Given the description of an element on the screen output the (x, y) to click on. 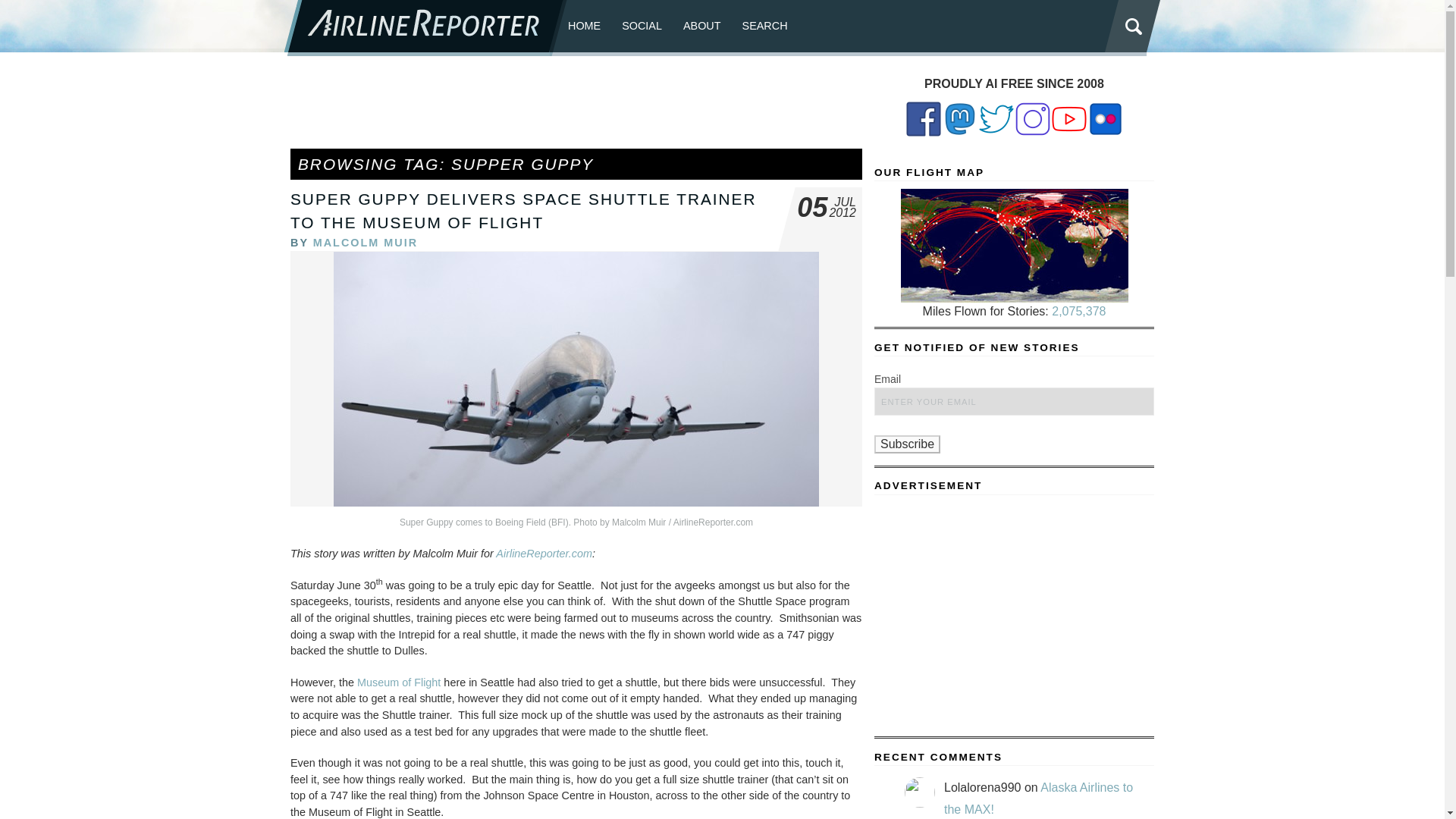
Posts by Malcolm Muir (365, 242)
Advertisement (575, 109)
AirlineReporter.com (544, 553)
Museum of Flight (398, 682)
Alaska Airlines to the MAX! (1037, 798)
2,075,378 (1078, 310)
Subscribe (907, 443)
Subscribe (907, 443)
guppy3 (575, 378)
